Given the description of an element on the screen output the (x, y) to click on. 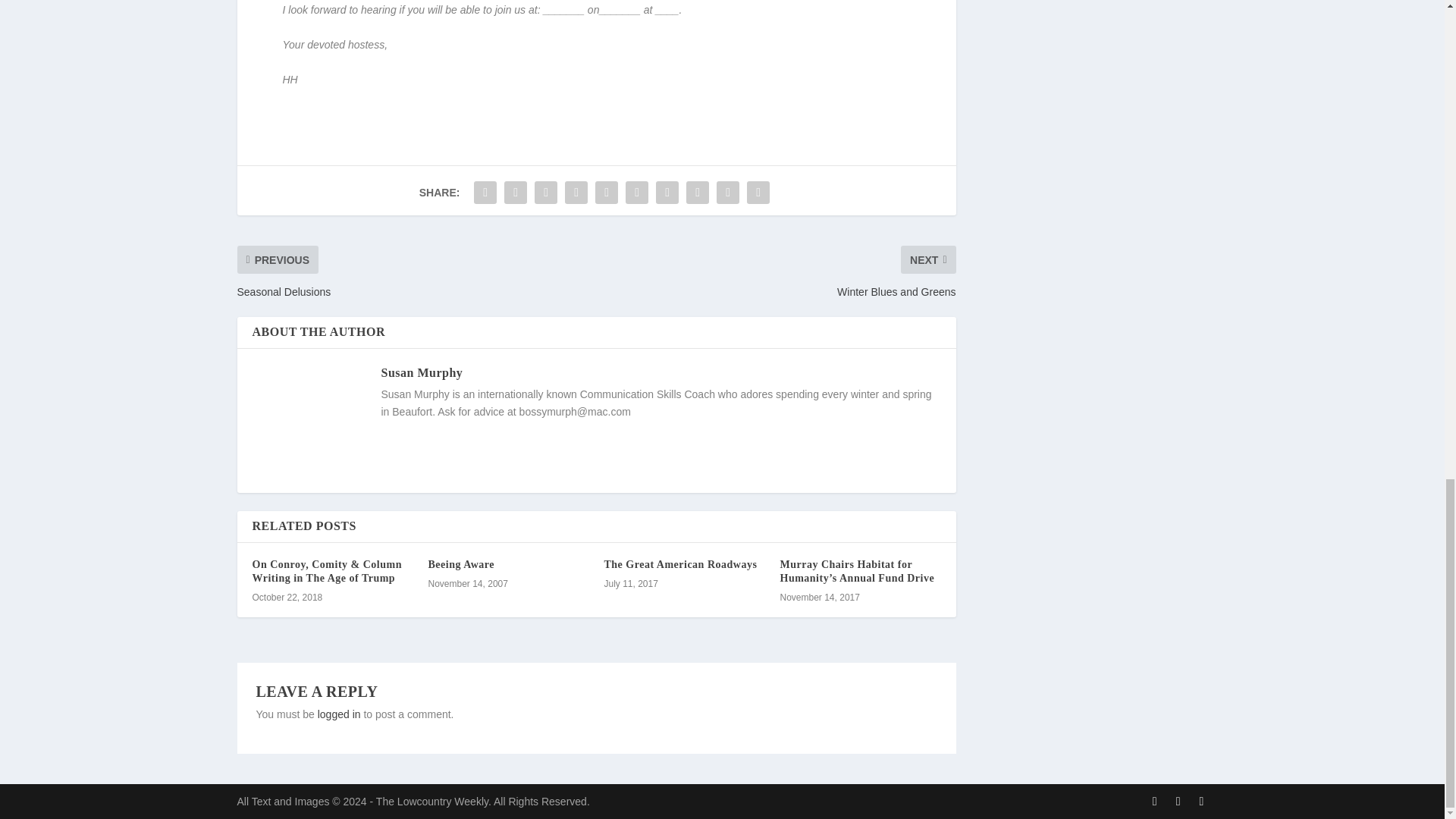
Share "Aunt Bossy" via Buffer (667, 192)
Share "Aunt Bossy" via LinkedIn (636, 192)
Share "Aunt Bossy" via Pinterest (606, 192)
Share "Aunt Bossy" via Twitter (515, 192)
Share "Aunt Bossy" via Stumbleupon (697, 192)
Share "Aunt Bossy" via Email (727, 192)
Share "Aunt Bossy" via Tumblr (575, 192)
Share "Aunt Bossy" via Facebook (485, 192)
